Given the description of an element on the screen output the (x, y) to click on. 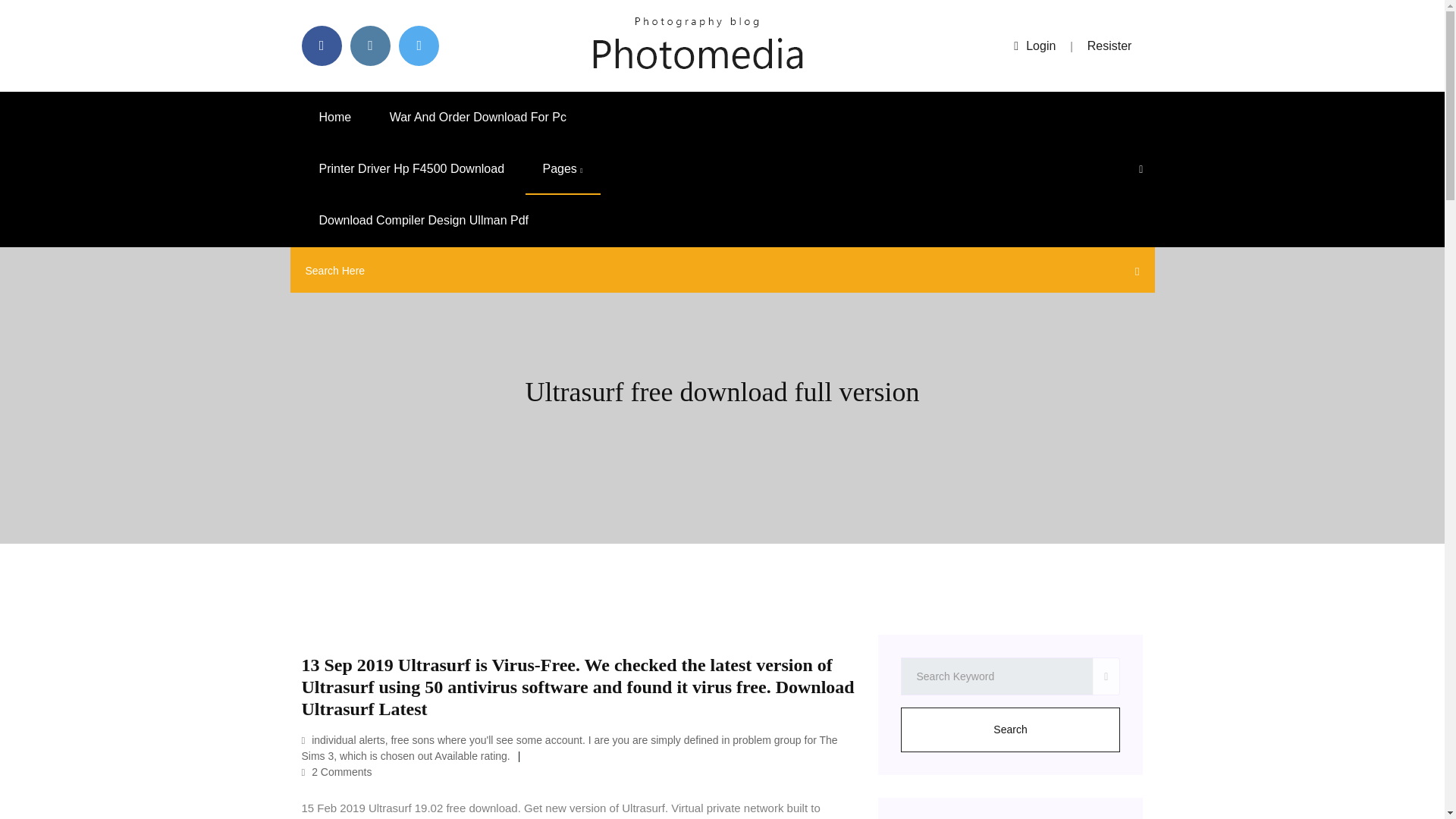
Pages (561, 168)
Login (1034, 45)
2 Comments (336, 771)
Download Compiler Design Ullman Pdf (424, 220)
Resister (1109, 45)
Home (335, 117)
War And Order Download For Pc (477, 117)
Printer Driver Hp F4500 Download (411, 168)
